Given the description of an element on the screen output the (x, y) to click on. 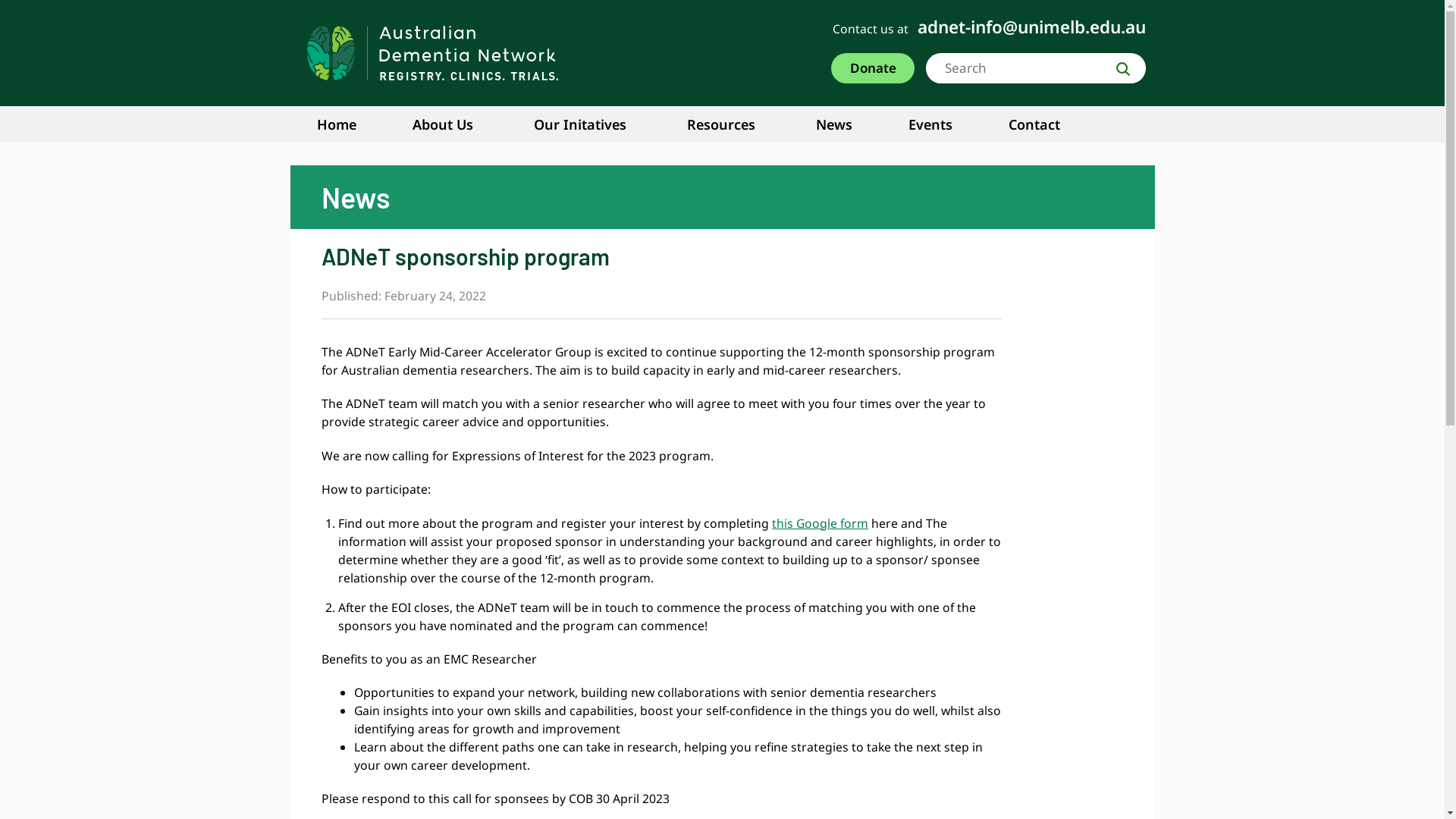
Events Element type: text (941, 124)
this Google form Element type: text (819, 522)
Our Initatives Element type: text (593, 124)
Resources Element type: text (734, 124)
Contact Element type: text (1045, 124)
Donate Element type: text (872, 68)
About Us Element type: text (456, 124)
Home Element type: text (347, 124)
News Element type: text (845, 124)
adnet-info@unimelb.edu.au Element type: text (1031, 26)
